Given the description of an element on the screen output the (x, y) to click on. 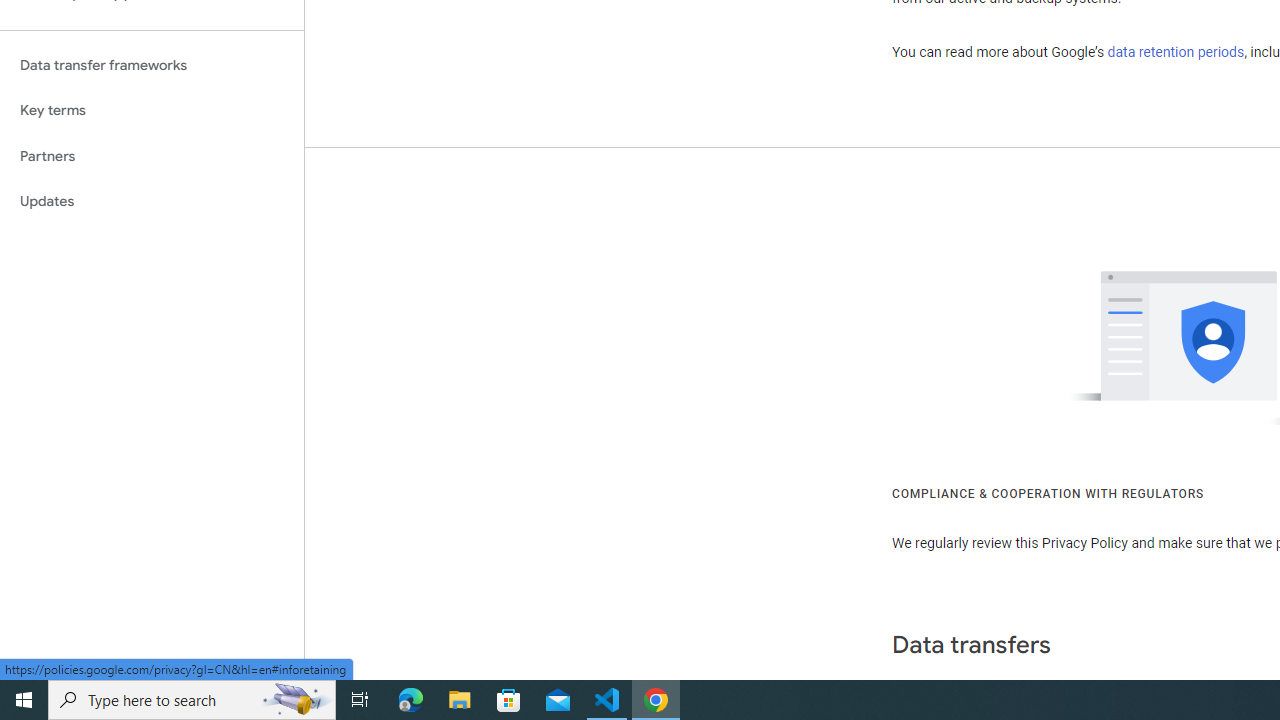
Key terms (152, 110)
Partners (152, 156)
data retention periods (1176, 52)
Data transfer frameworks (152, 65)
